Given the description of an element on the screen output the (x, y) to click on. 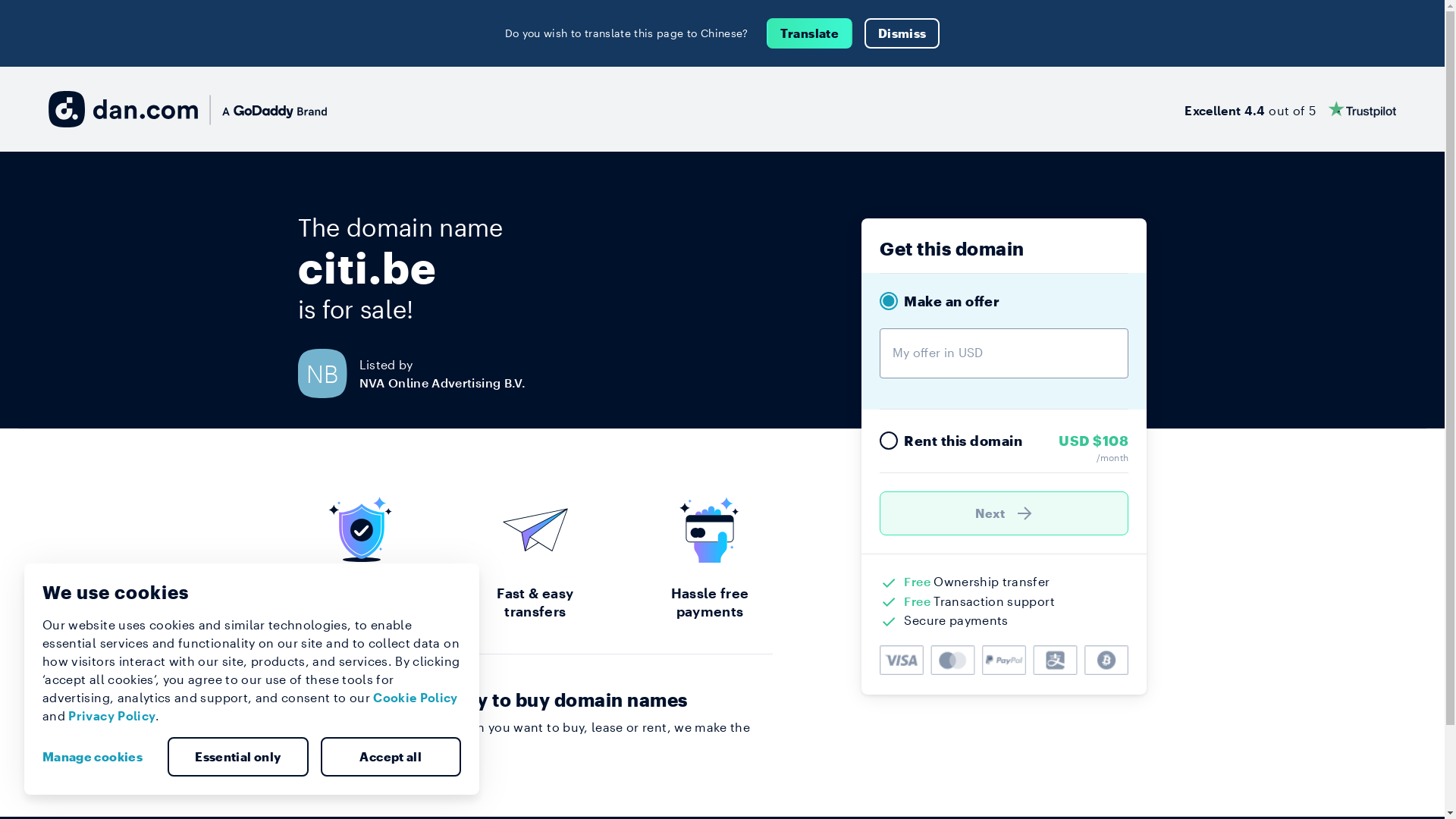
Essential only Element type: text (237, 756)
Cookie Policy Element type: text (415, 697)
Excellent 4.4 out of 5 Element type: text (1290, 109)
Accept all Element type: text (390, 756)
Dismiss Element type: text (901, 33)
Manage cookies Element type: text (98, 756)
Privacy Policy Element type: text (111, 715)
Next
) Element type: text (1003, 513)
Translate Element type: text (809, 33)
